Given the description of an element on the screen output the (x, y) to click on. 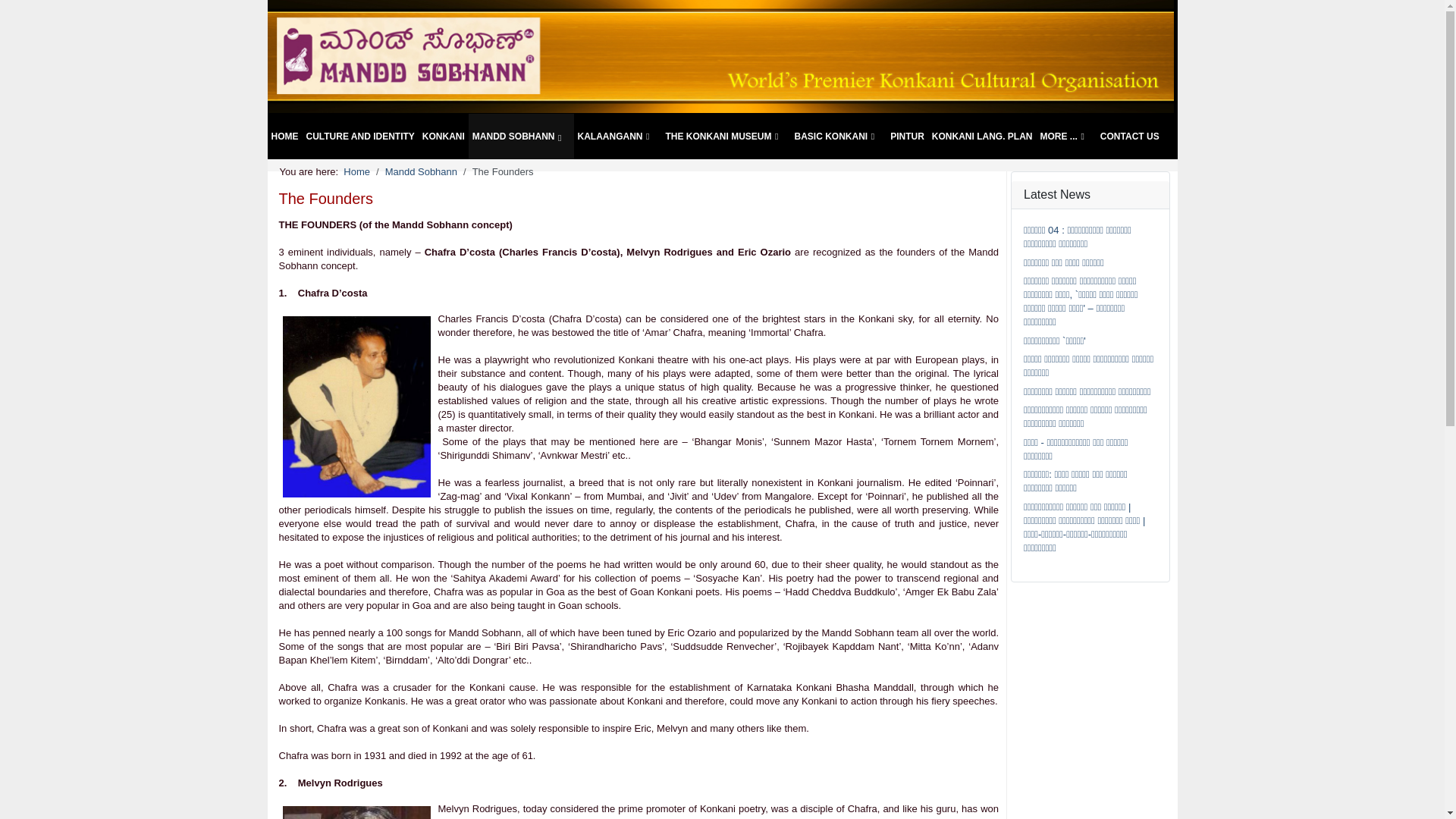
BASIC KONKANI (838, 135)
CULTURE AND IDENTITY (359, 135)
PINTUR (907, 135)
THE KONKANI MUSEUM (725, 135)
KONKANI (443, 135)
KALAANGANN (617, 135)
MANDD SOBHANN (520, 135)
